Given the description of an element on the screen output the (x, y) to click on. 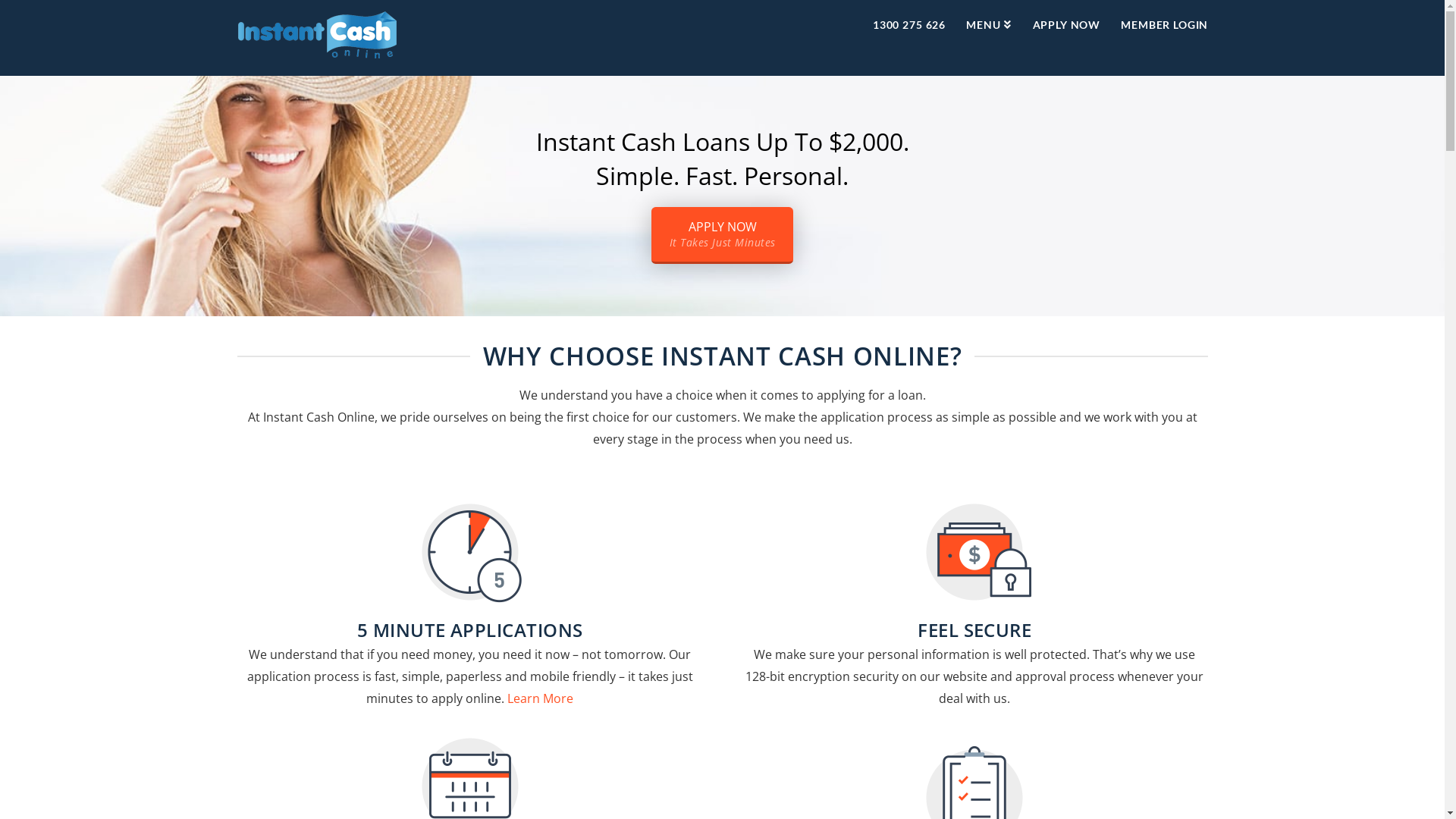
APPLY NOW Element type: text (1066, 37)
Learn More Element type: text (540, 698)
1300 275 626 Element type: text (908, 37)
APPLY NOW
It Takes Just Minutes Element type: text (721, 235)
MENU Element type: text (988, 37)
MEMBER LOGIN Element type: text (1158, 37)
